Given the description of an element on the screen output the (x, y) to click on. 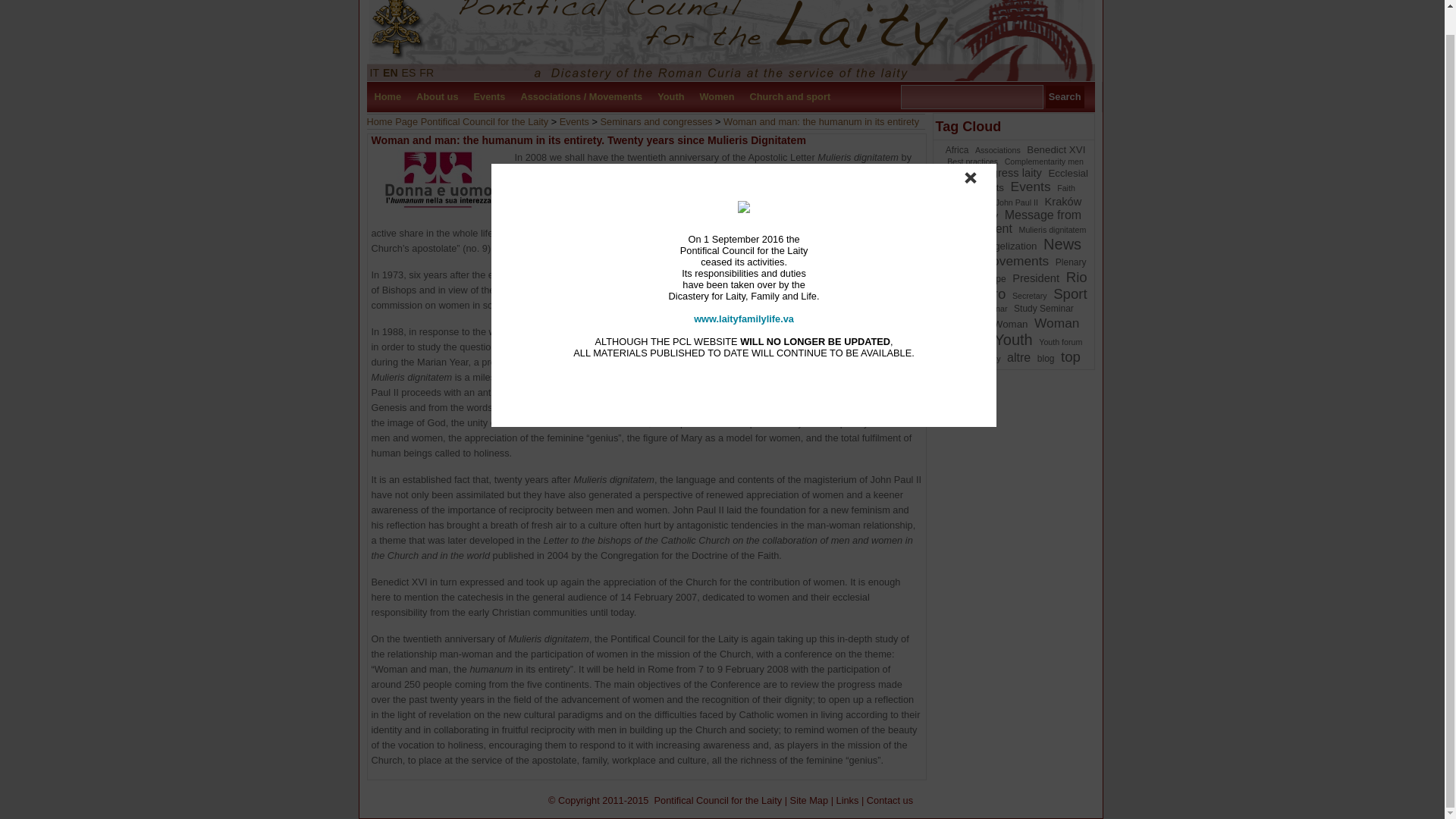
Home (387, 96)
Best practices (972, 161)
ES (408, 72)
6 (1011, 167)
Seminars and congresses (656, 121)
FR (426, 72)
Complementarity men women (1011, 167)
Laici (730, 40)
Church and sport (789, 96)
Youth (670, 96)
Benedict XVI (1055, 149)
Search (1064, 96)
8 (995, 149)
Home Page Pontifical Council for the Laity (457, 121)
EN (389, 72)
